Given the description of an element on the screen output the (x, y) to click on. 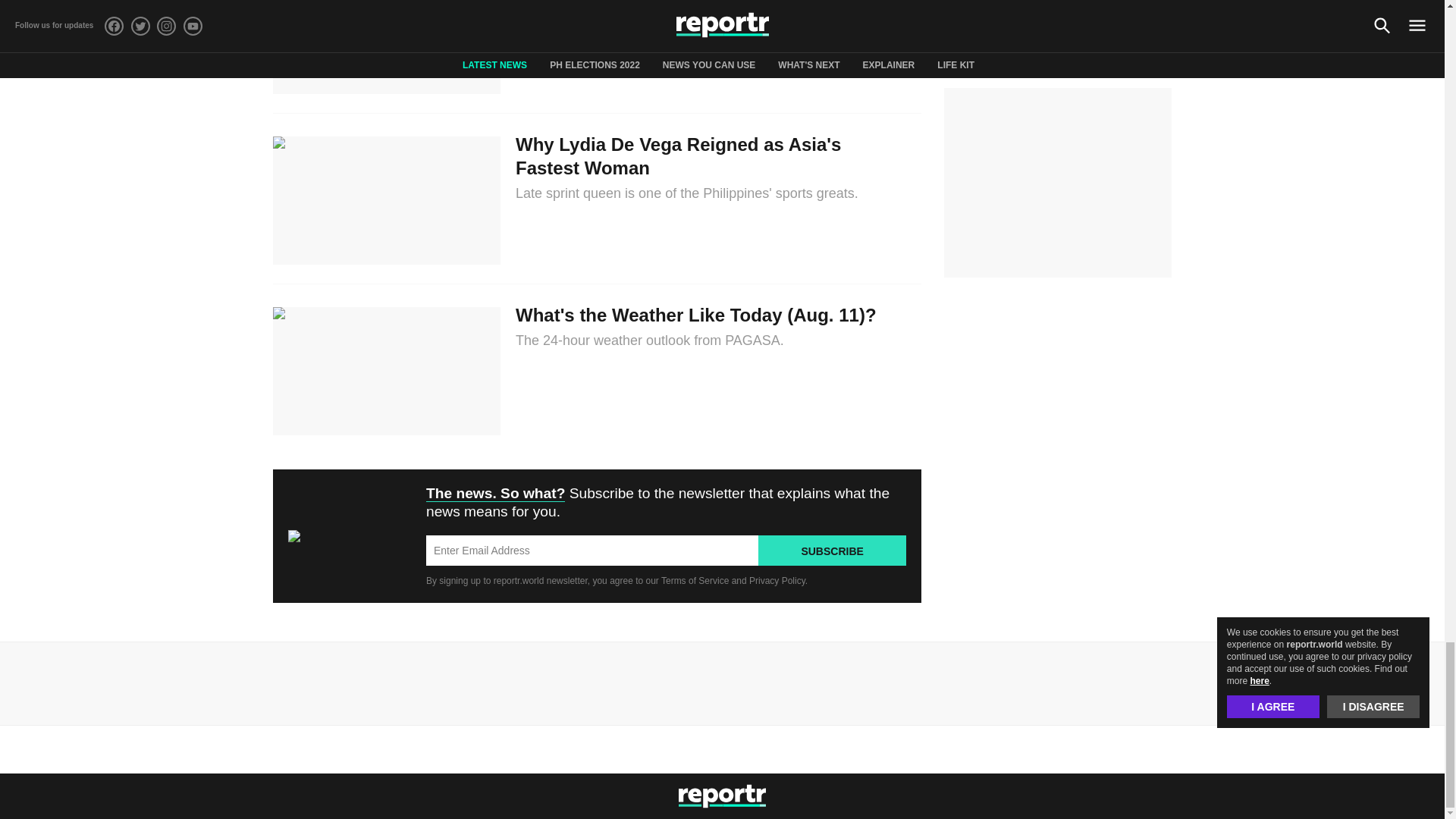
Subscribe (831, 550)
